Given the description of an element on the screen output the (x, y) to click on. 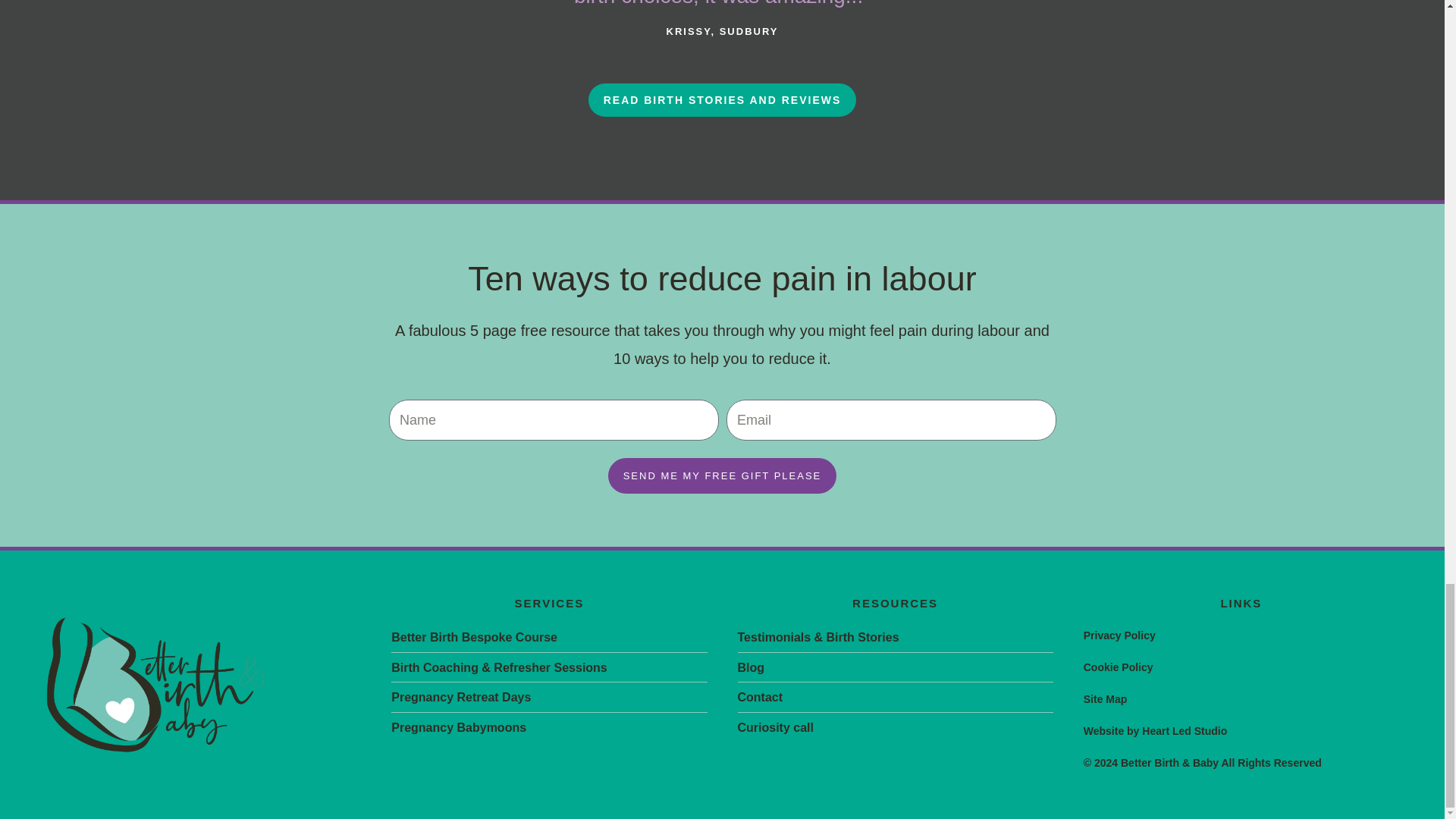
Blog (894, 667)
Curiosity call (894, 727)
Pregnancy Babymoons (548, 727)
Pregnancy Retreat Days (548, 697)
SEND ME MY FREE GIFT PLEASE (722, 475)
Contact (894, 697)
READ BIRTH STORIES AND REVIEWS (722, 100)
Better Birth Bespoke Course (548, 637)
